Given the description of an element on the screen output the (x, y) to click on. 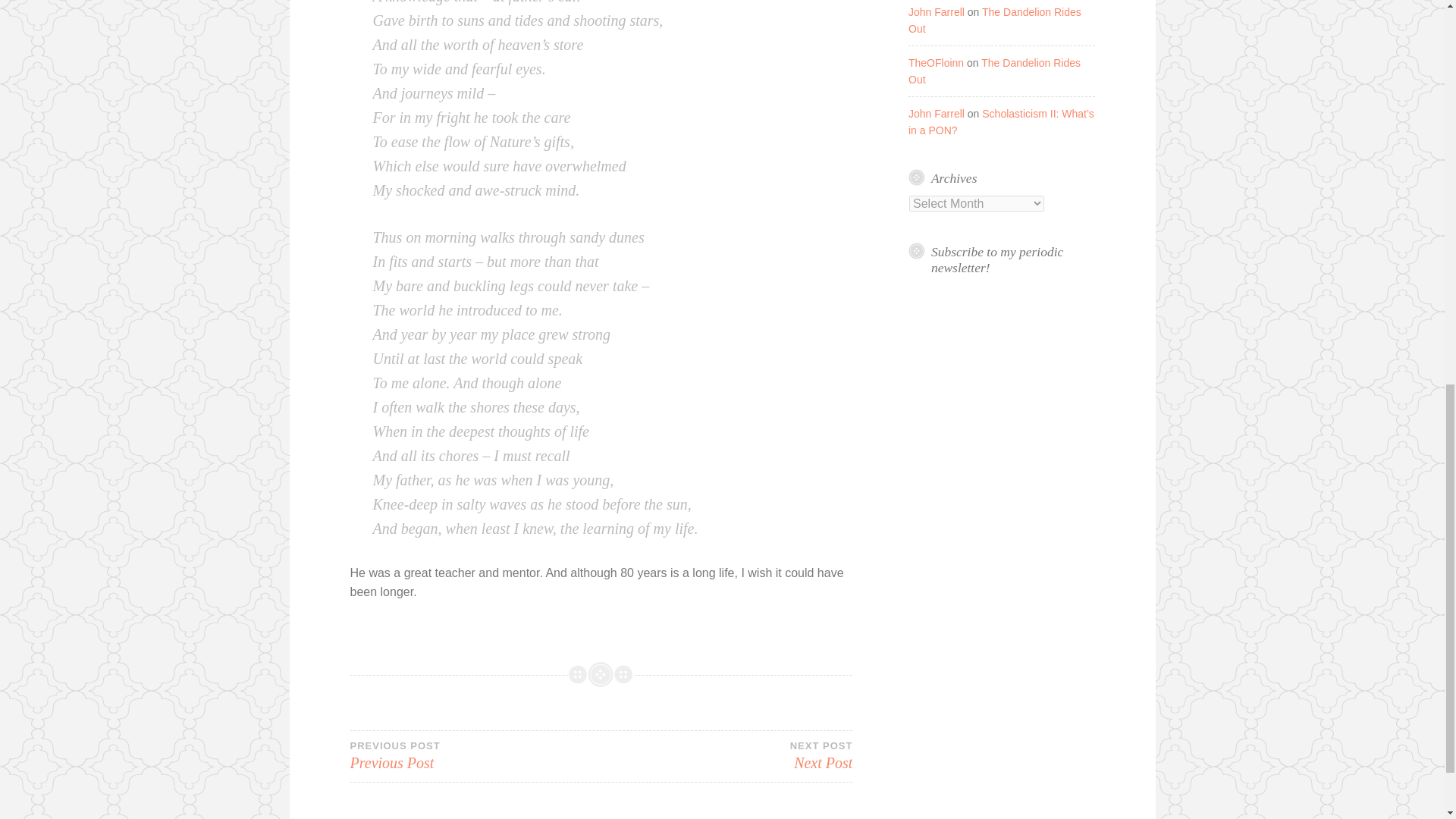
The Dandelion Rides Out (994, 20)
John Farrell (935, 11)
The Dandelion Rides Out (994, 70)
TheOFloinn (935, 62)
John Farrell (935, 113)
